Given the description of an element on the screen output the (x, y) to click on. 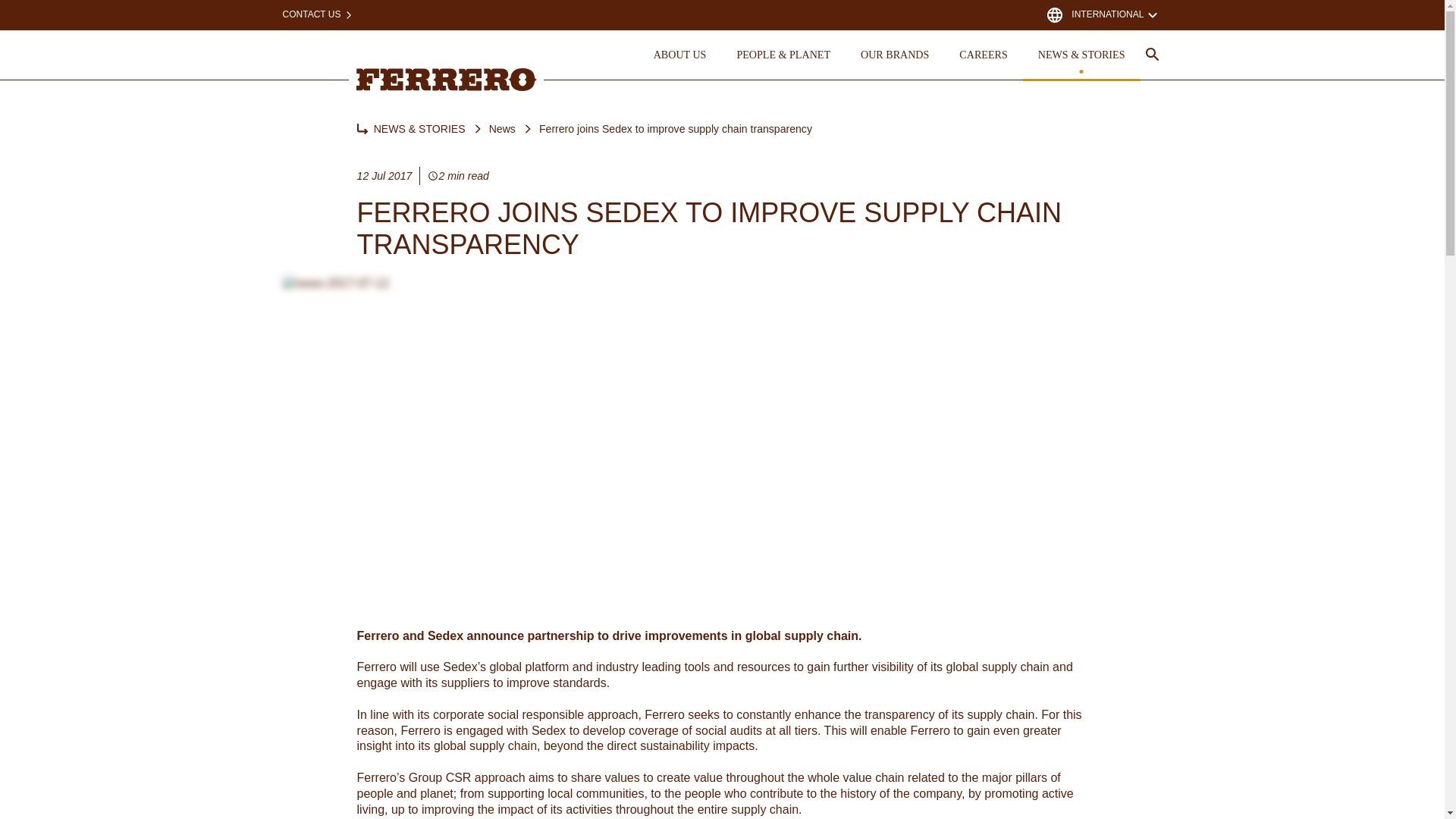
ABOUT US (680, 54)
OUR BRANDS (894, 54)
Ferrero (446, 78)
